Given the description of an element on the screen output the (x, y) to click on. 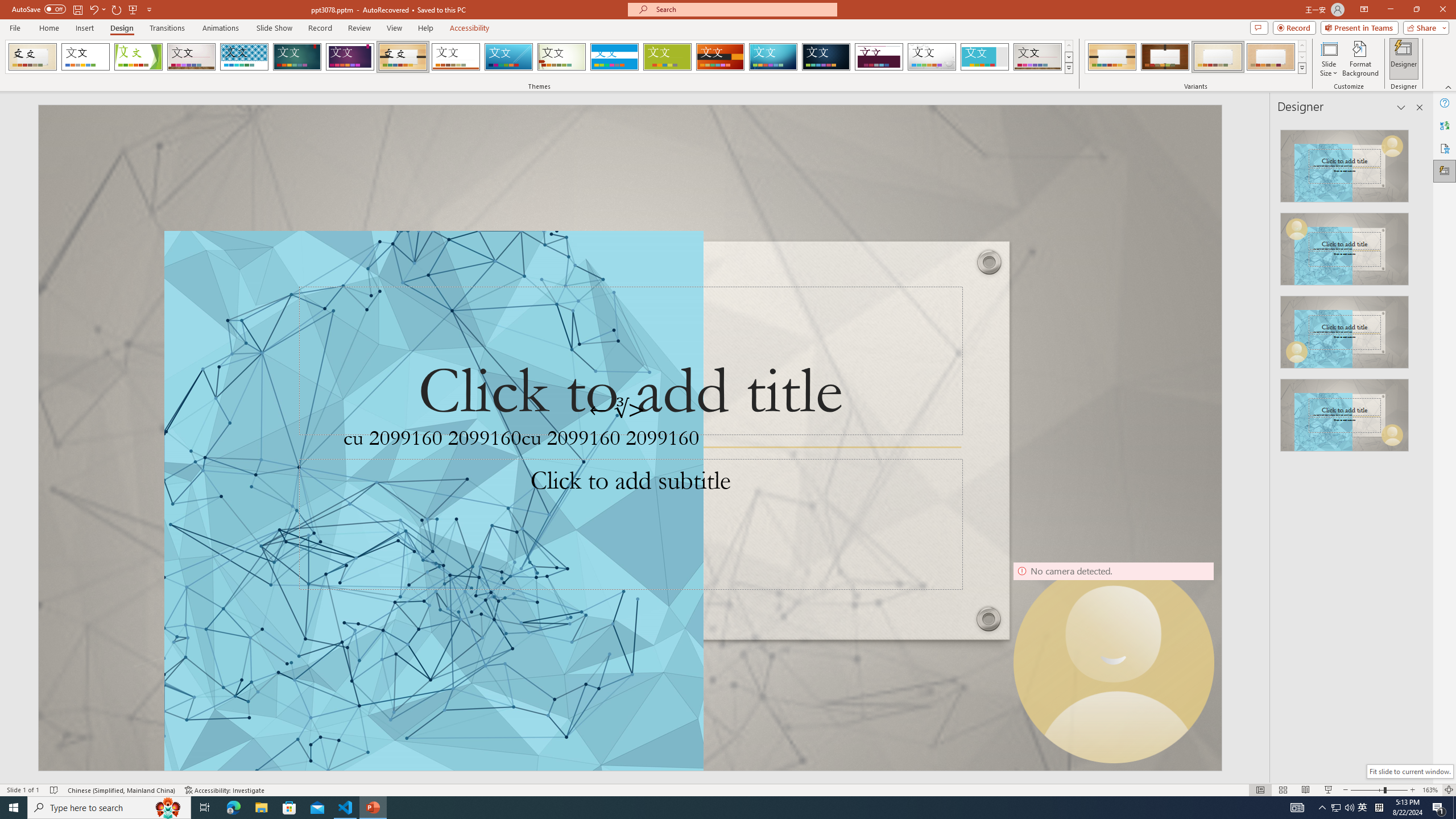
Office Theme (85, 56)
